Given the description of an element on the screen output the (x, y) to click on. 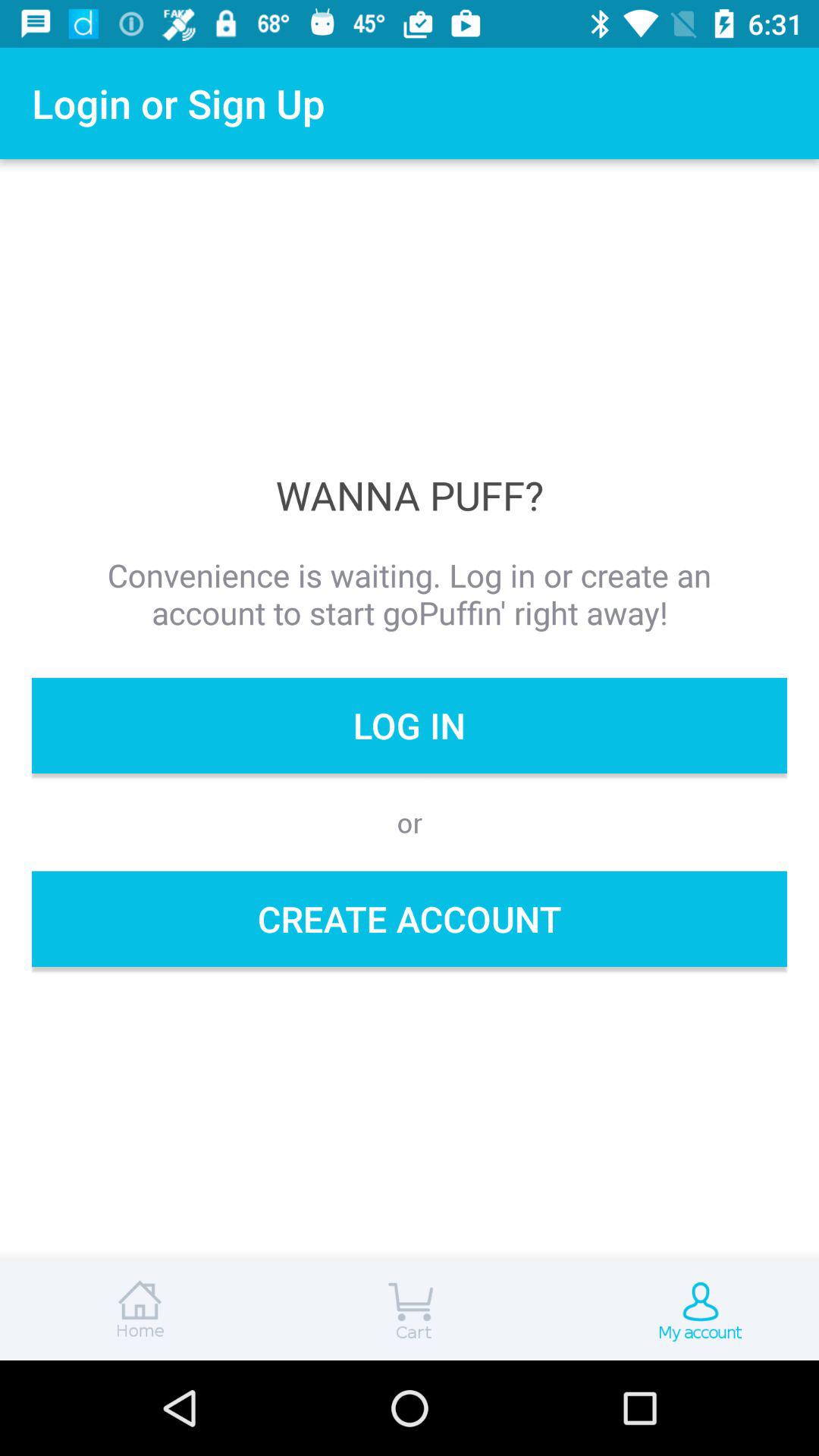
go to home (136, 1310)
